Given the description of an element on the screen output the (x, y) to click on. 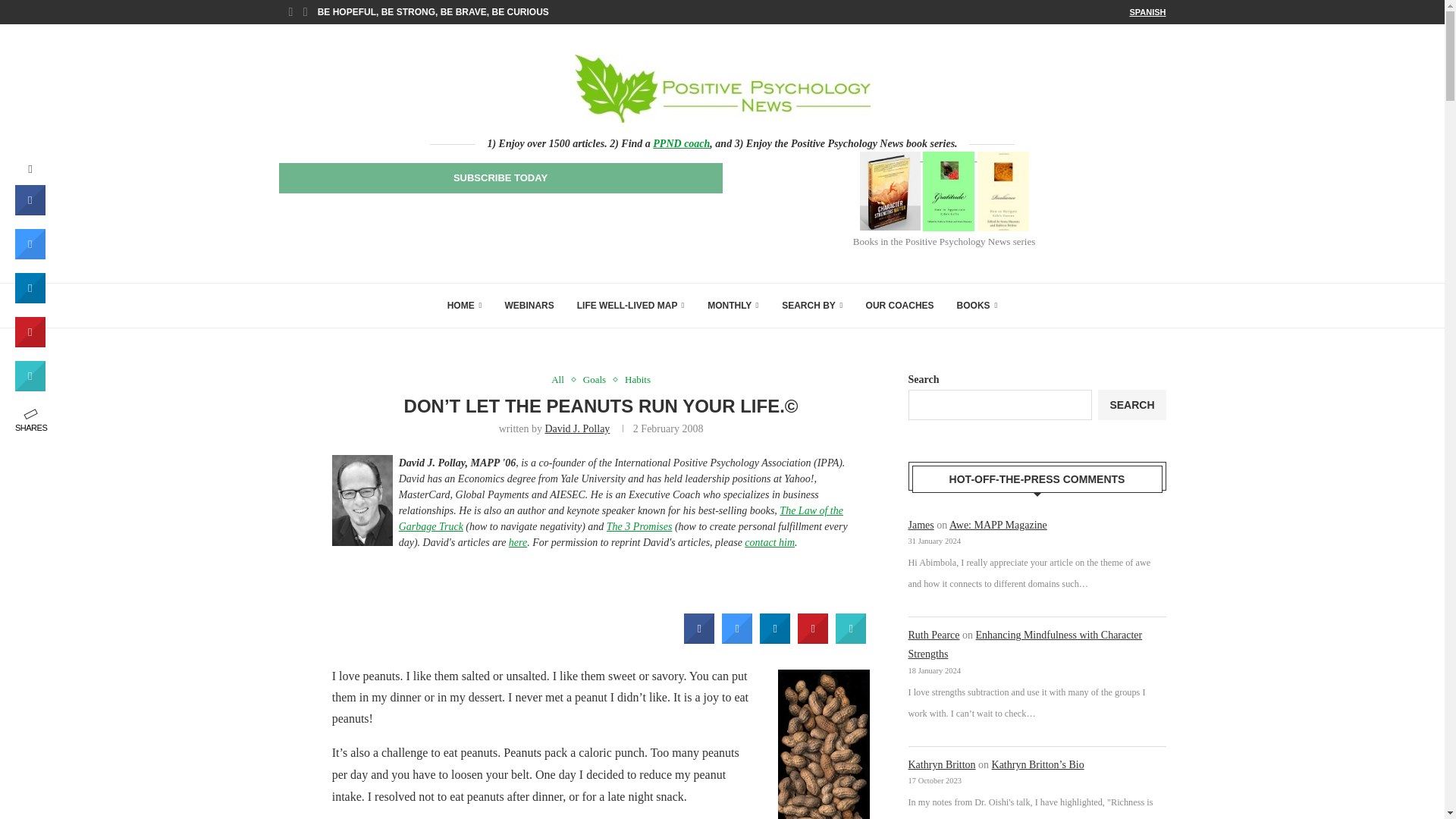
Share on Twitter (737, 639)
Share on Facebook (699, 639)
Print this page (850, 639)
Share to LinkedIn (775, 639)
Share on Pinterest (812, 639)
